Given the description of an element on the screen output the (x, y) to click on. 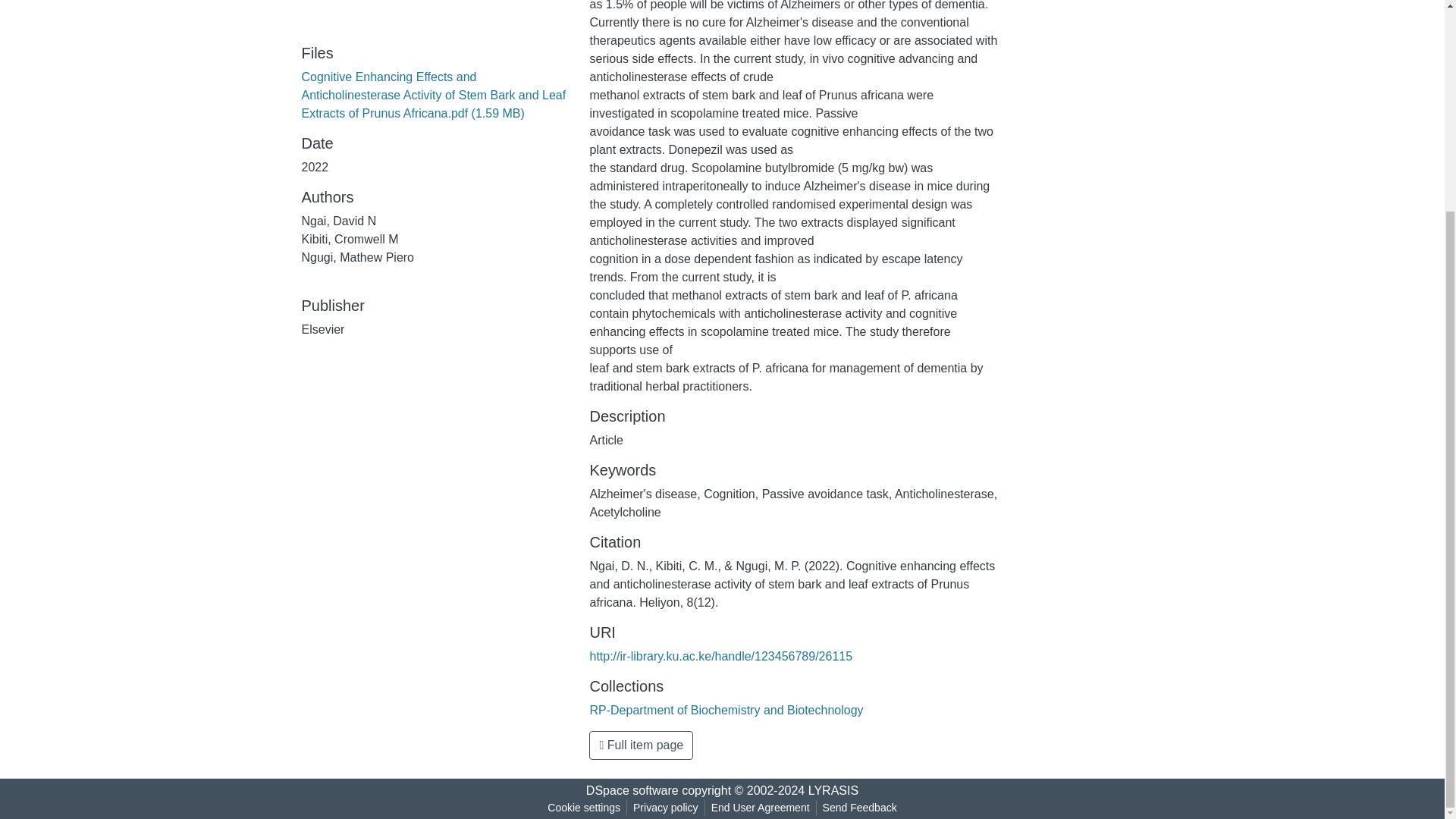
Send Feedback (859, 807)
Full item page (641, 745)
LYRASIS (833, 789)
Privacy policy (665, 807)
RP-Department of Biochemistry and Biotechnology (726, 709)
DSpace software (632, 789)
End User Agreement (759, 807)
Cookie settings (583, 807)
